Given the description of an element on the screen output the (x, y) to click on. 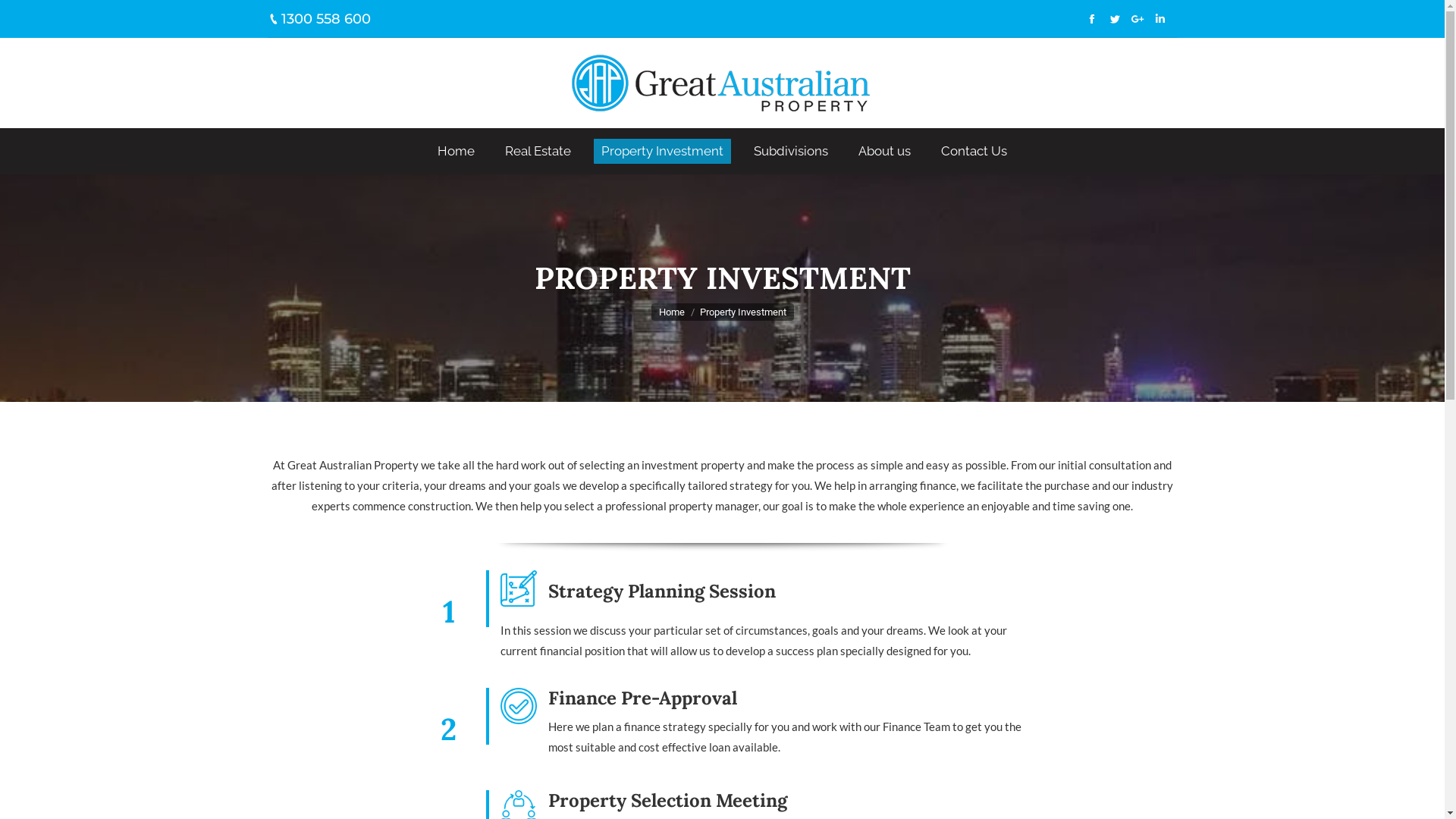
1300 558 600 Element type: text (325, 18)
Facebook Element type: text (1091, 18)
Contact Us Element type: text (973, 150)
Home Element type: text (671, 311)
Home Element type: text (455, 150)
Google+ Element type: text (1136, 18)
Property Investment Element type: text (662, 150)
Twitter Element type: text (1113, 18)
Subdivisions Element type: text (790, 150)
Real Estate Element type: text (537, 150)
Linkedin Element type: text (1159, 18)
About us Element type: text (884, 150)
